Given the description of an element on the screen output the (x, y) to click on. 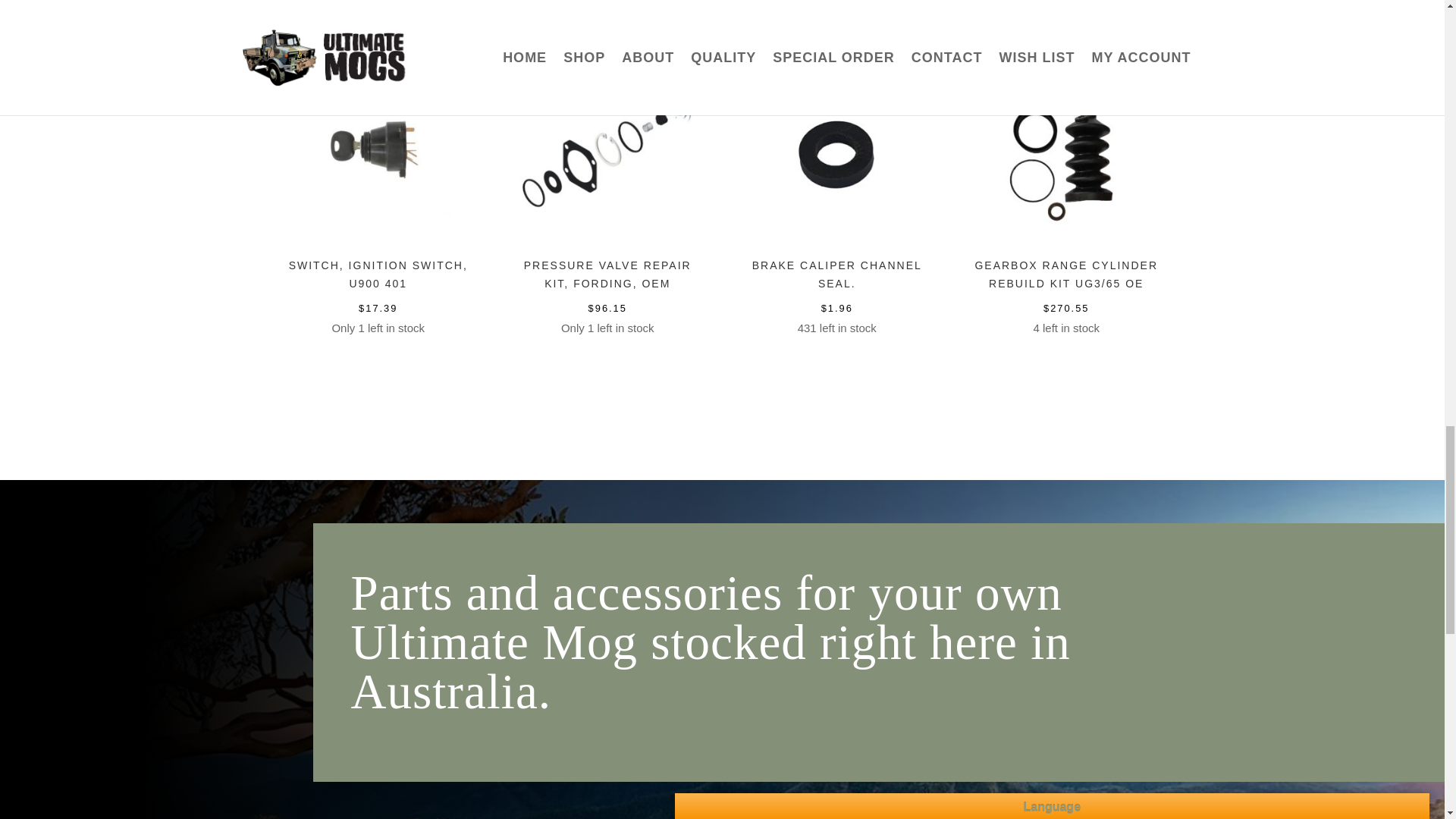
000 545 2013 - Ultimate Mogs (378, 153)
000 420 5455 - Ultimate Mogs (606, 153)
32103 - Ultimate Mogs (836, 153)
000 550 4107 - Ultimate Mogs (1065, 153)
